Given the description of an element on the screen output the (x, y) to click on. 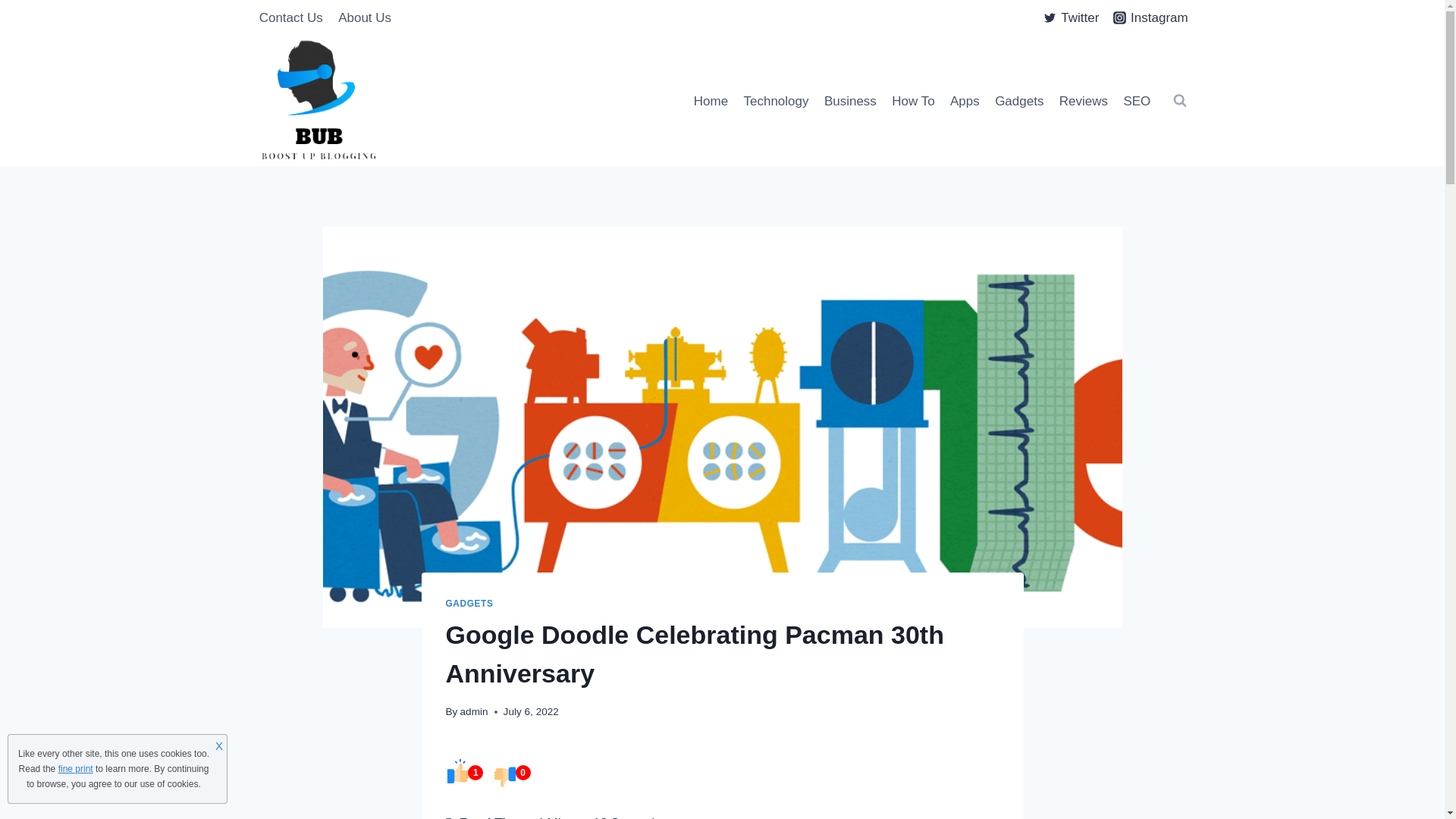
GADGETS (469, 603)
Business (849, 100)
SEO (1136, 100)
How To (912, 100)
Reviews (1083, 100)
Instagram (1150, 17)
Home (710, 100)
Technology (775, 100)
Contact Us (290, 18)
Apps (964, 100)
Gadgets (1019, 100)
admin (473, 711)
About Us (364, 18)
Twitter (1072, 17)
